Given the description of an element on the screen output the (x, y) to click on. 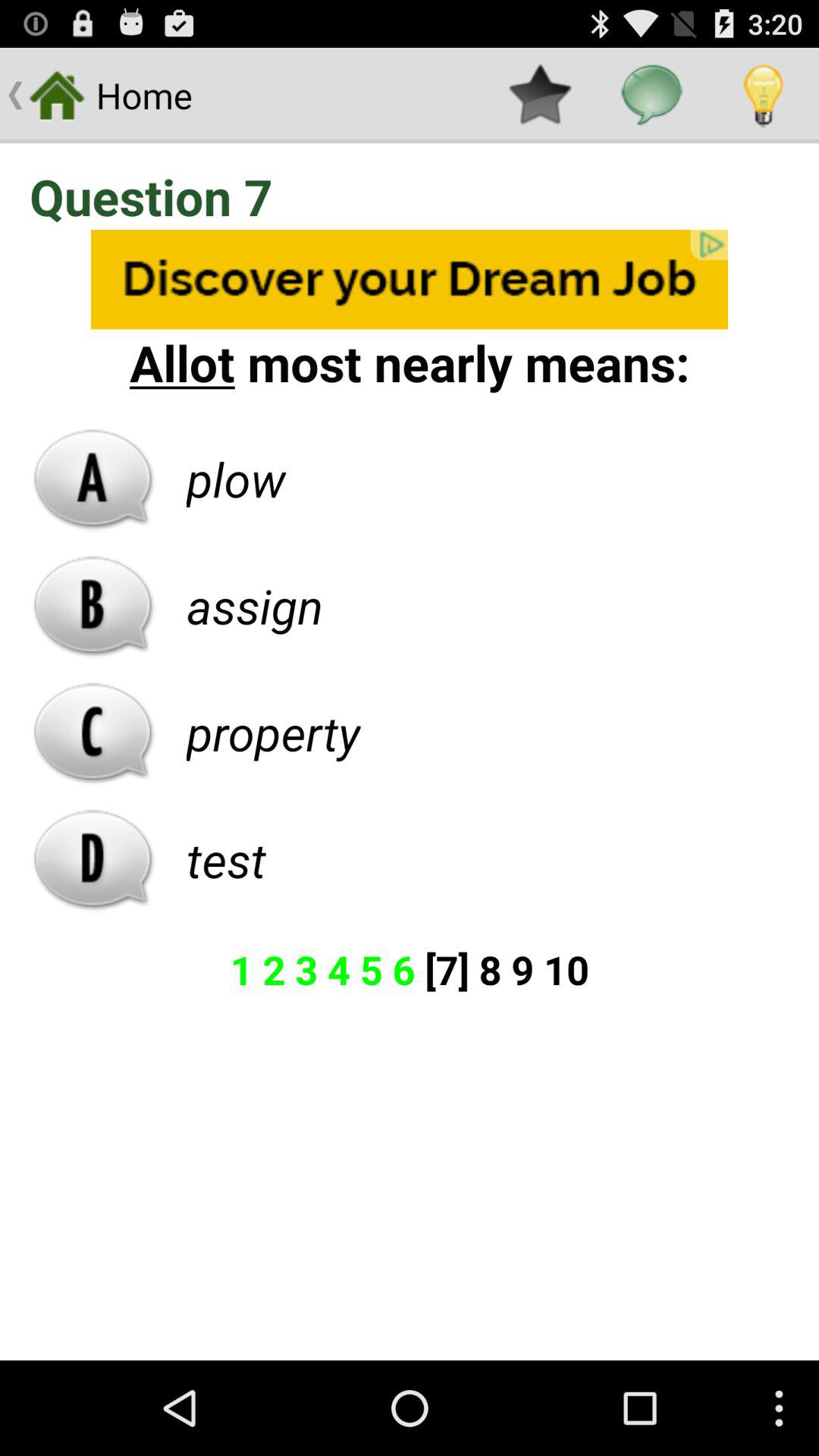
top advertisement (409, 279)
